Given the description of an element on the screen output the (x, y) to click on. 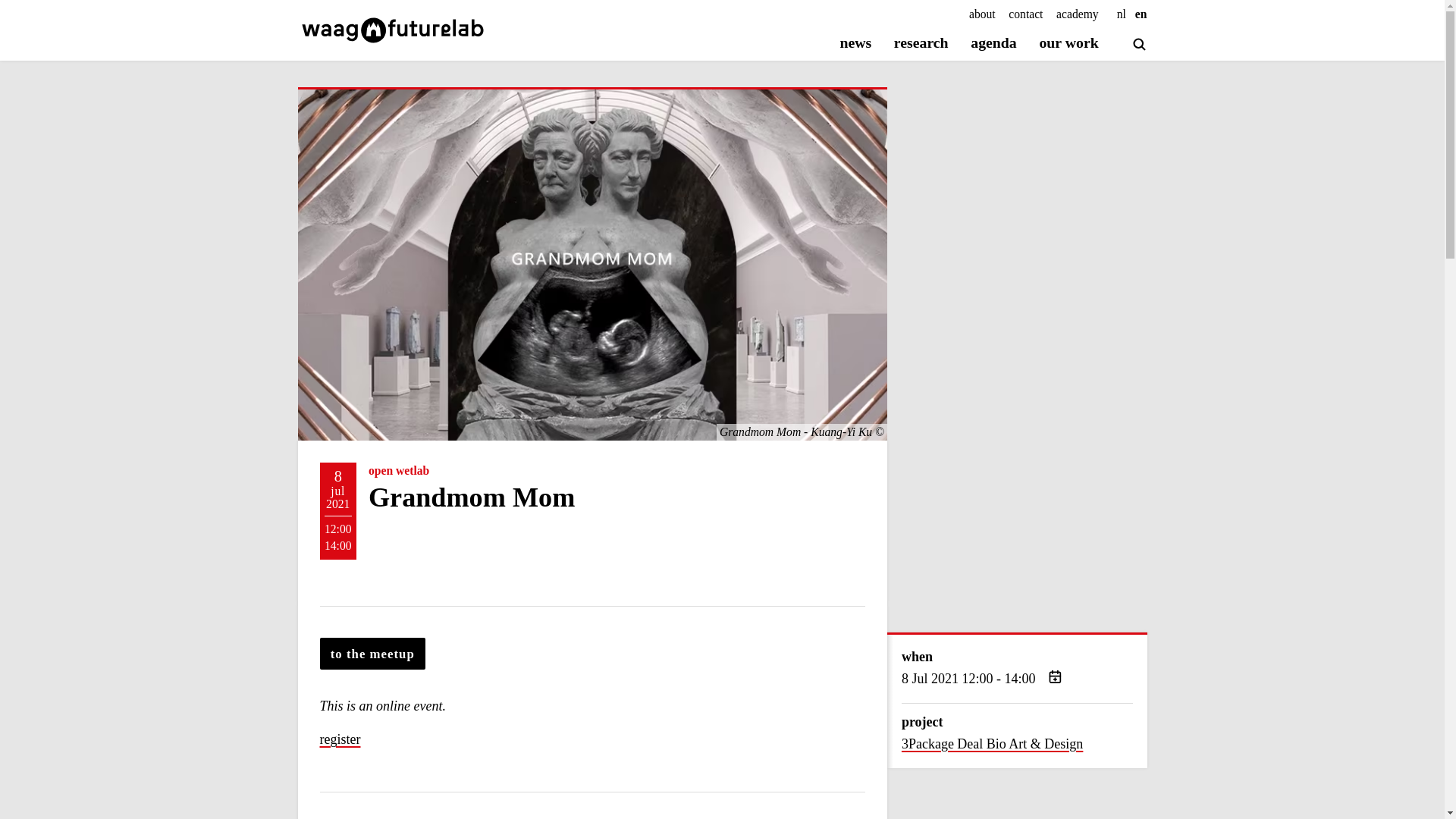
agenda (993, 43)
about (982, 13)
our work (1068, 43)
academy (1078, 13)
register (340, 740)
to the meetup (373, 653)
research (921, 43)
open wetlab (398, 470)
news (855, 43)
contact (1025, 13)
